Given the description of an element on the screen output the (x, y) to click on. 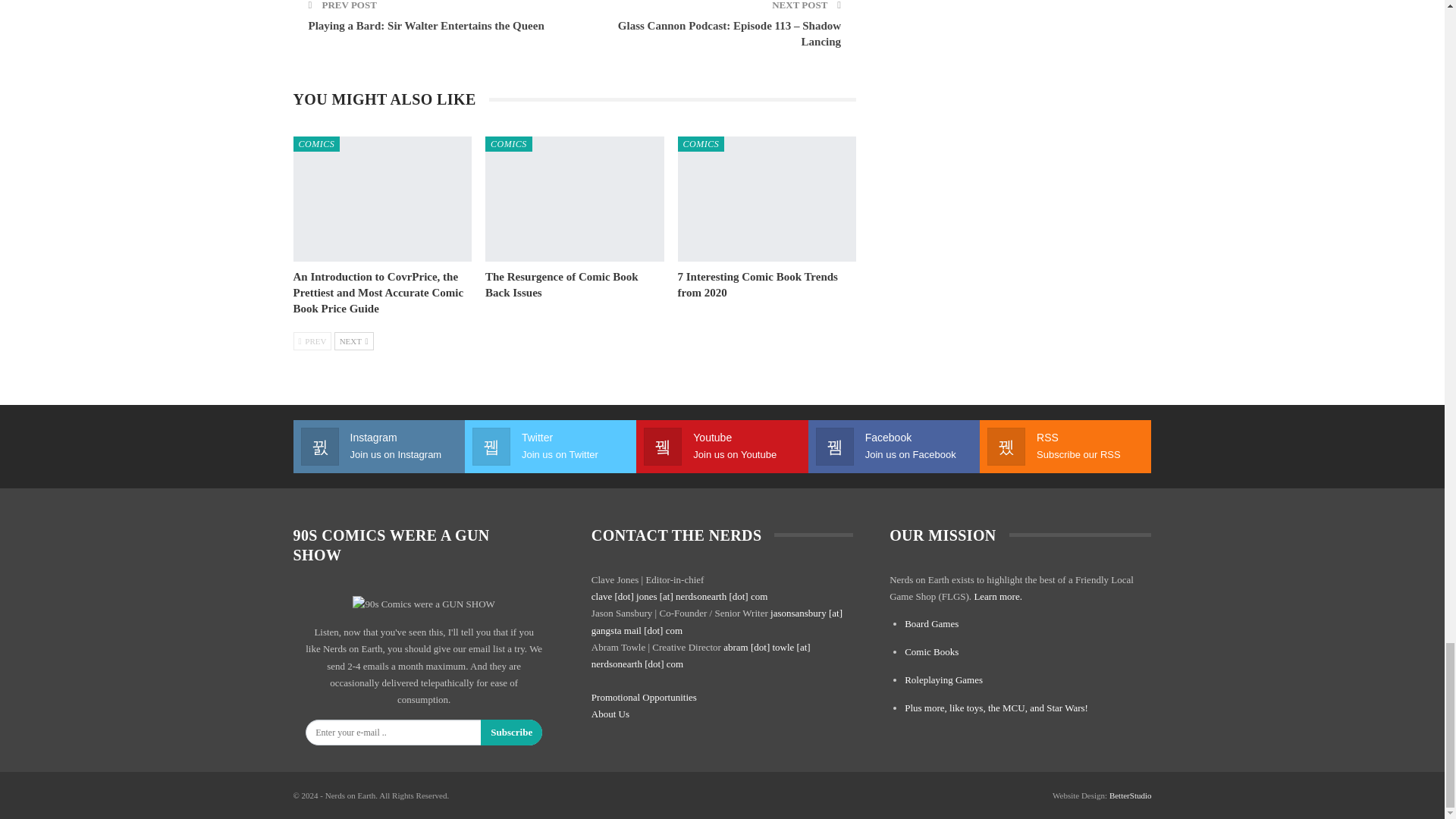
Next (354, 341)
The Resurgence of Comic Book Back Issues (573, 198)
7 Interesting Comic Book Trends from 2020 (758, 284)
The Resurgence of Comic Book Back Issues (561, 284)
Previous (311, 341)
7 Interesting Comic Book Trends from 2020 (767, 198)
